Given the description of an element on the screen output the (x, y) to click on. 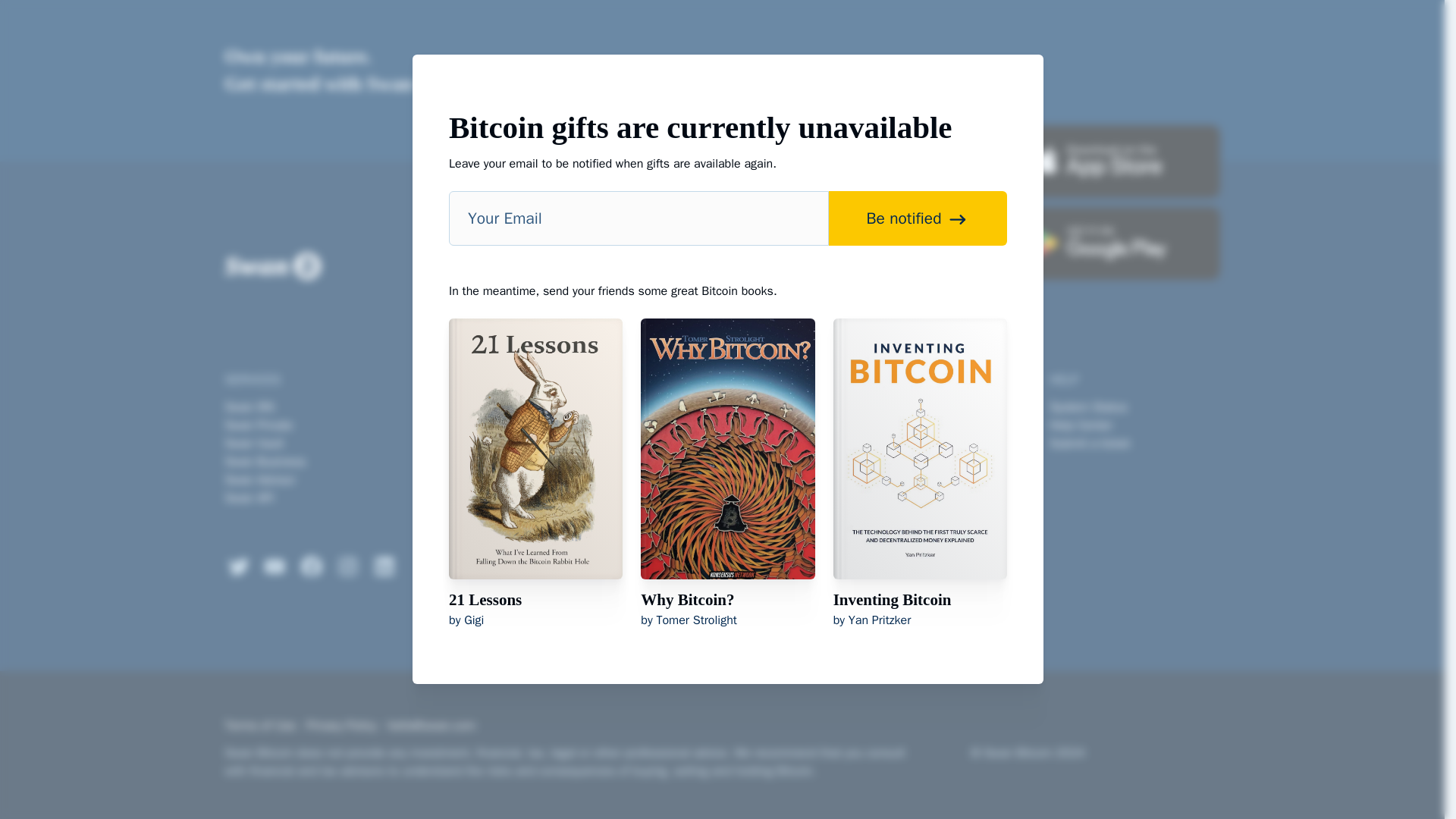
Swan logo (272, 266)
